Given the description of an element on the screen output the (x, y) to click on. 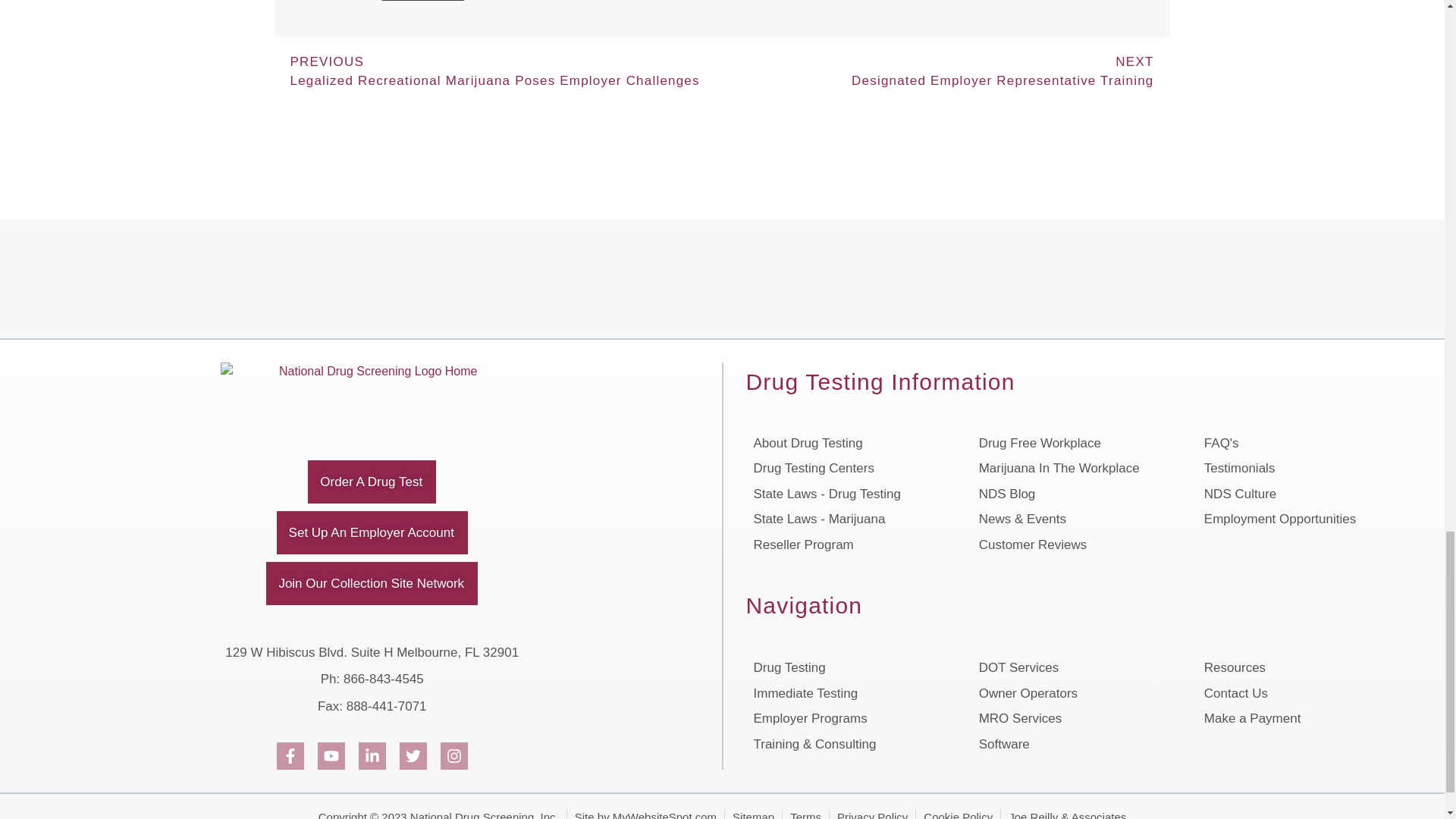
Linked In Icon (371, 755)
Facebook Icon (290, 755)
Return Home (372, 392)
Youtube Icon (331, 755)
